Given the description of an element on the screen output the (x, y) to click on. 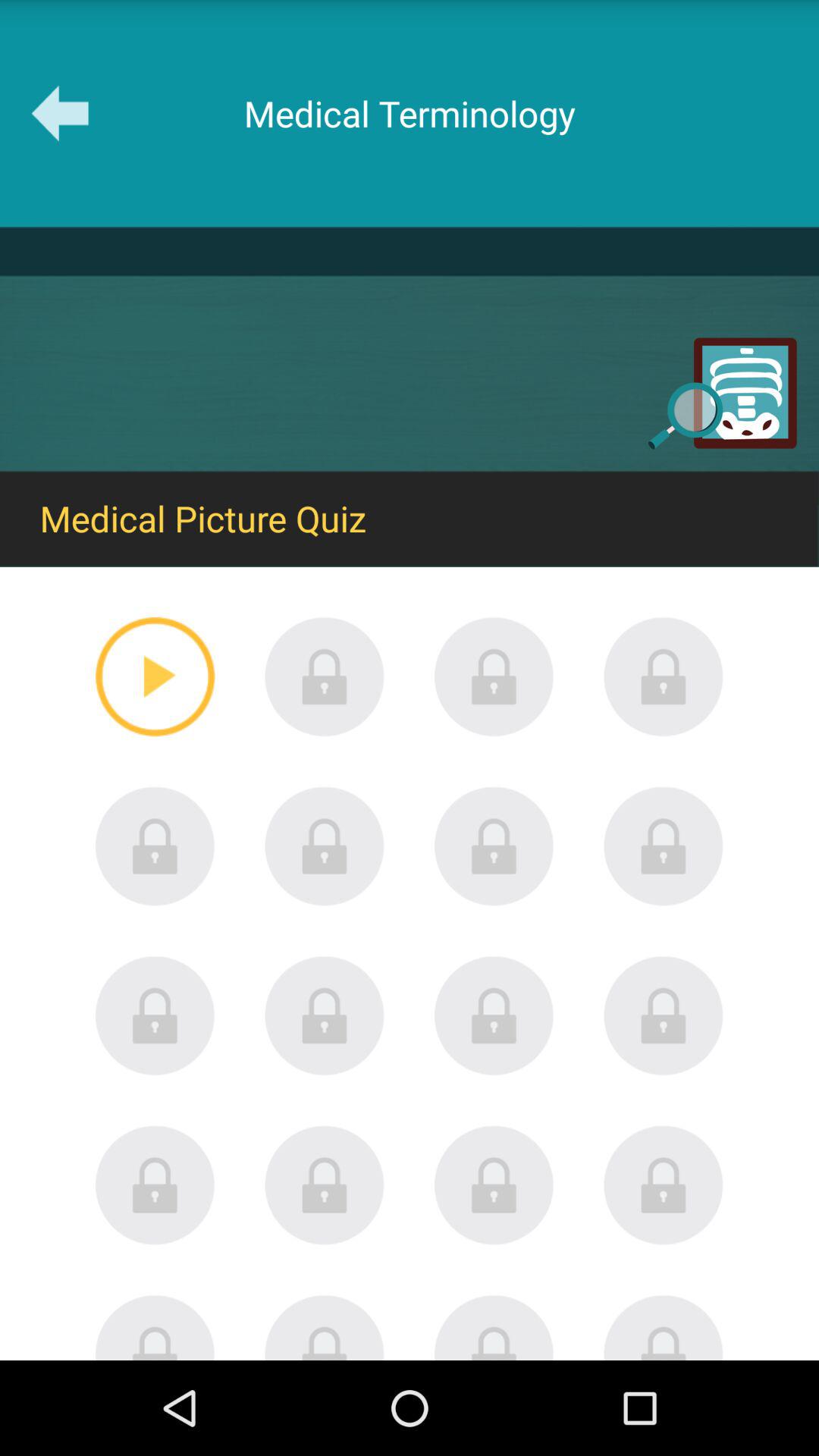
unlock the quiz (663, 1327)
